Given the description of an element on the screen output the (x, y) to click on. 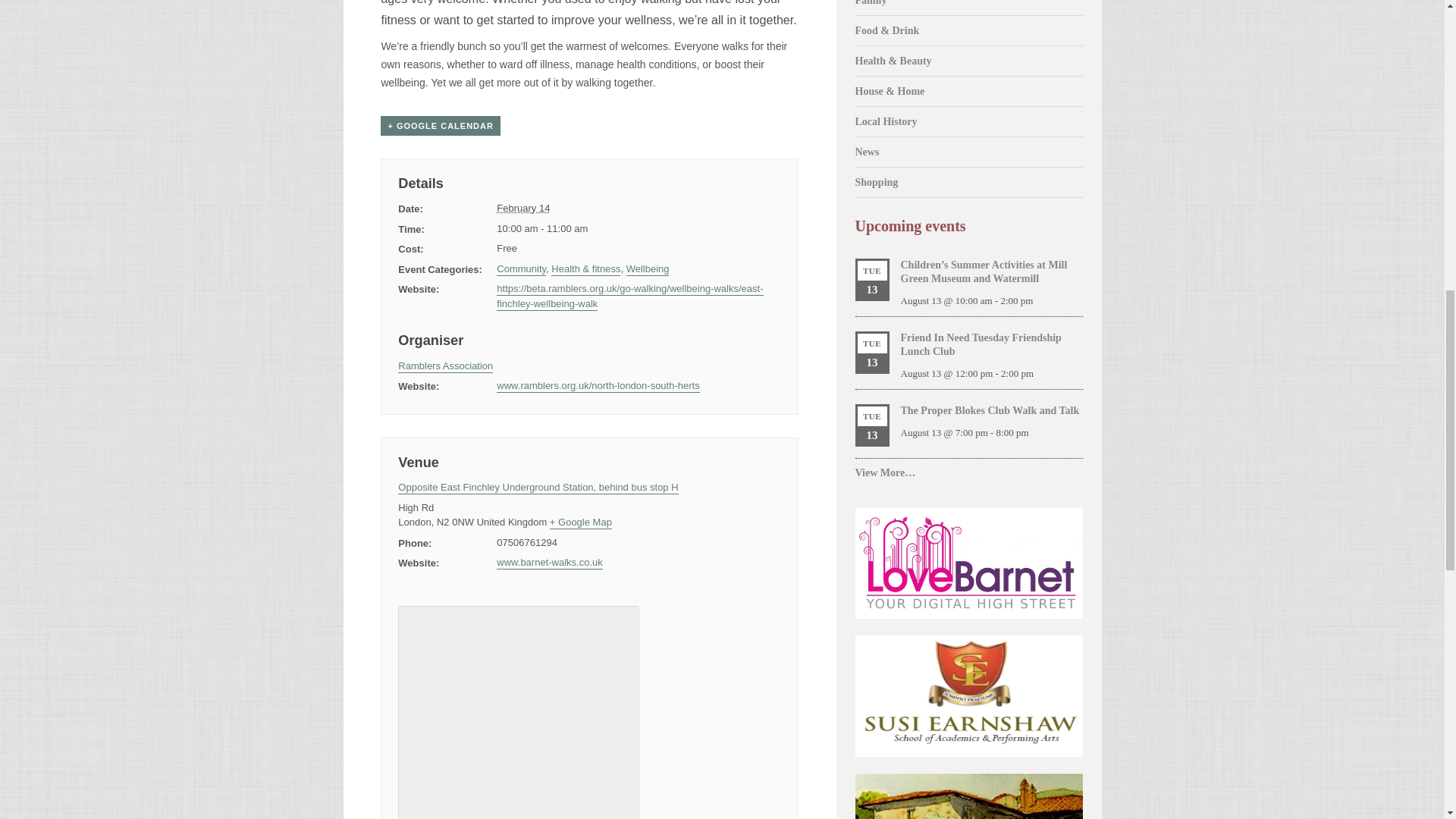
Ramblers Association (445, 366)
Wellbeing (647, 269)
Click to view a Google Map (580, 522)
2024-02-14 (523, 207)
Ramblers Association (445, 366)
Community (521, 269)
Add to Google Calendar (440, 125)
2024-02-14 (638, 228)
www.barnet-walks.co.uk (549, 562)
